Given the description of an element on the screen output the (x, y) to click on. 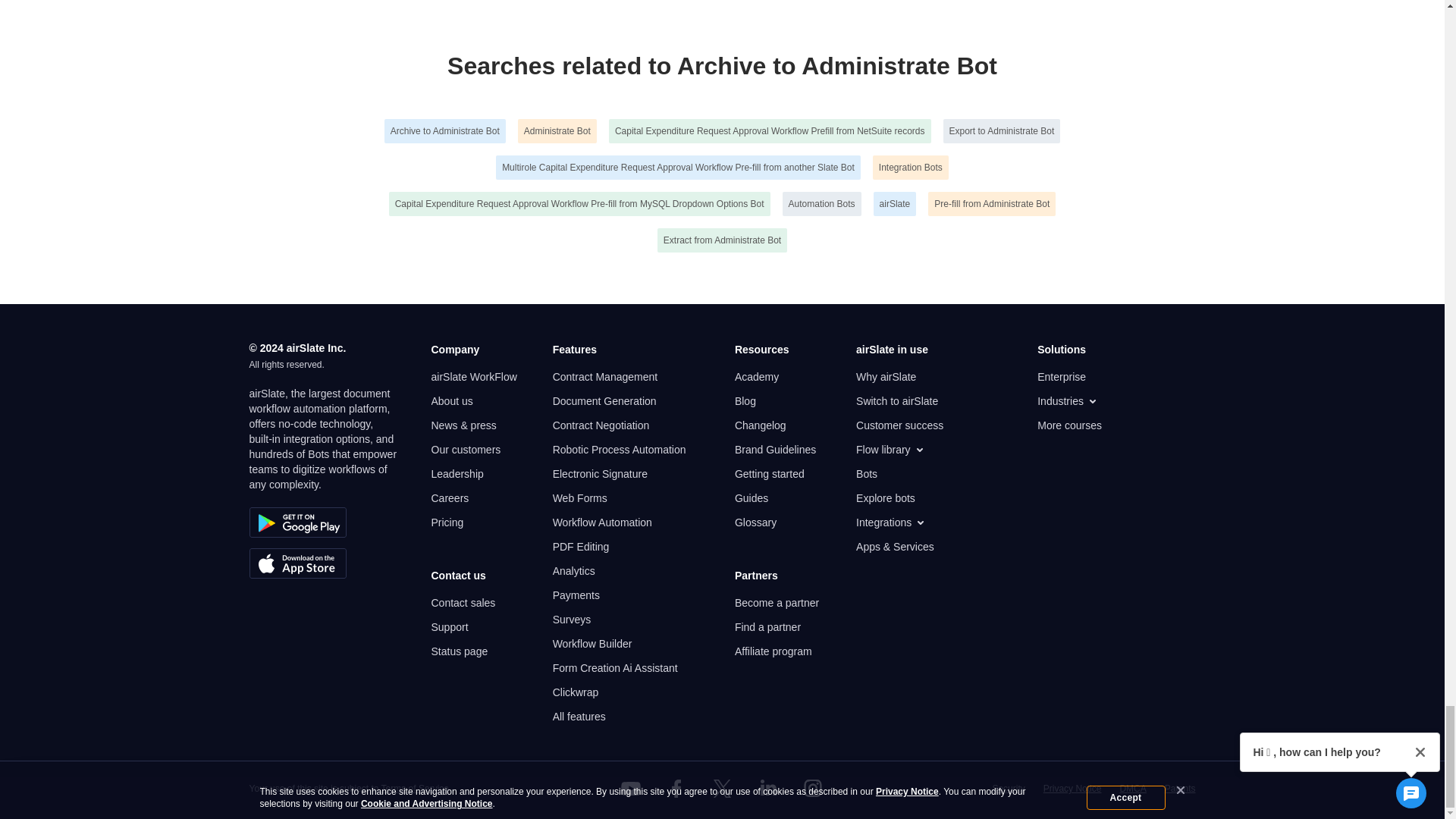
Instagram (812, 788)
LinkedIn (767, 788)
Facebook (676, 788)
YouTube (630, 788)
Twitter (721, 788)
